Given the description of an element on the screen output the (x, y) to click on. 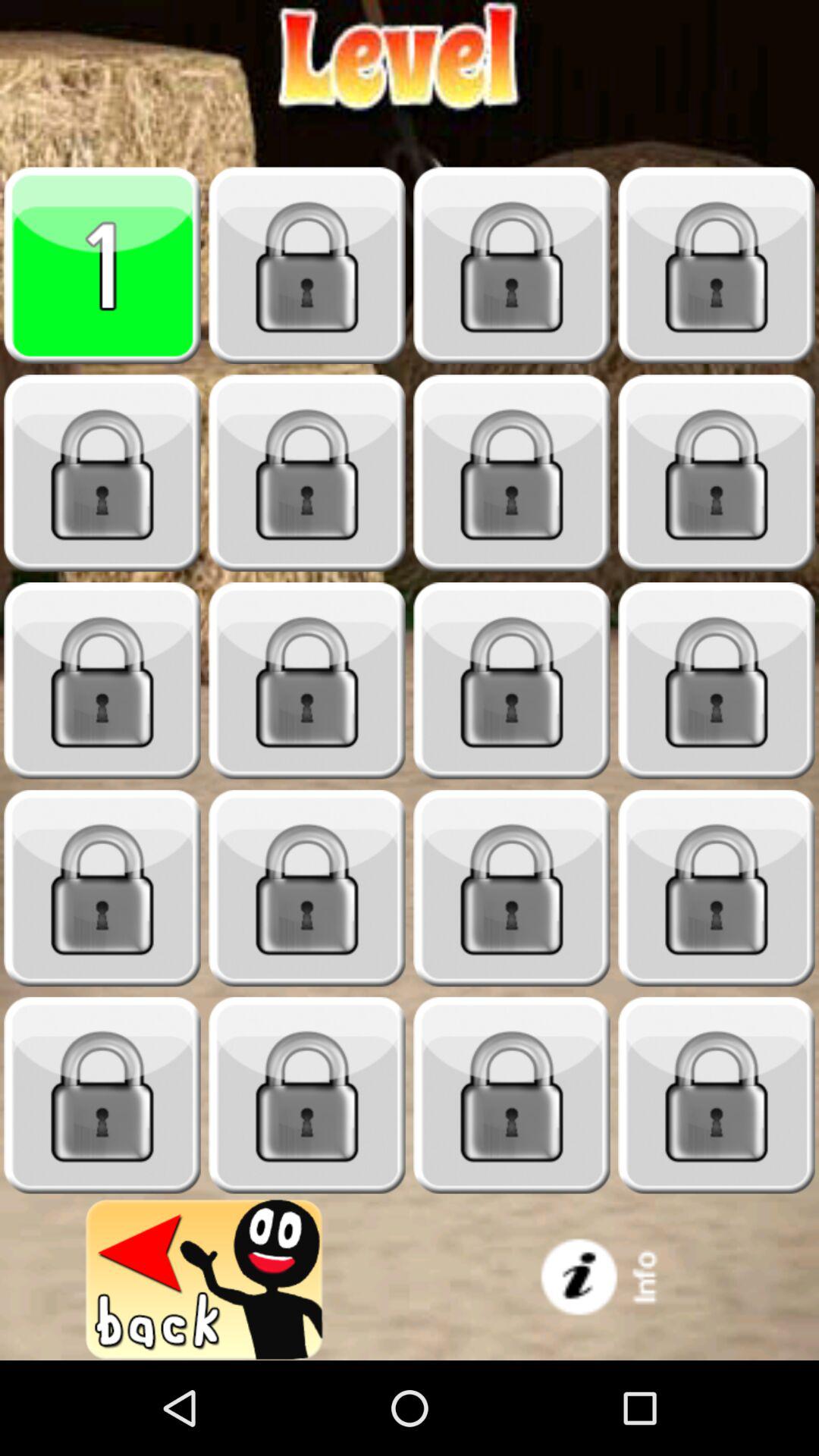
lock button (511, 265)
